Given the description of an element on the screen output the (x, y) to click on. 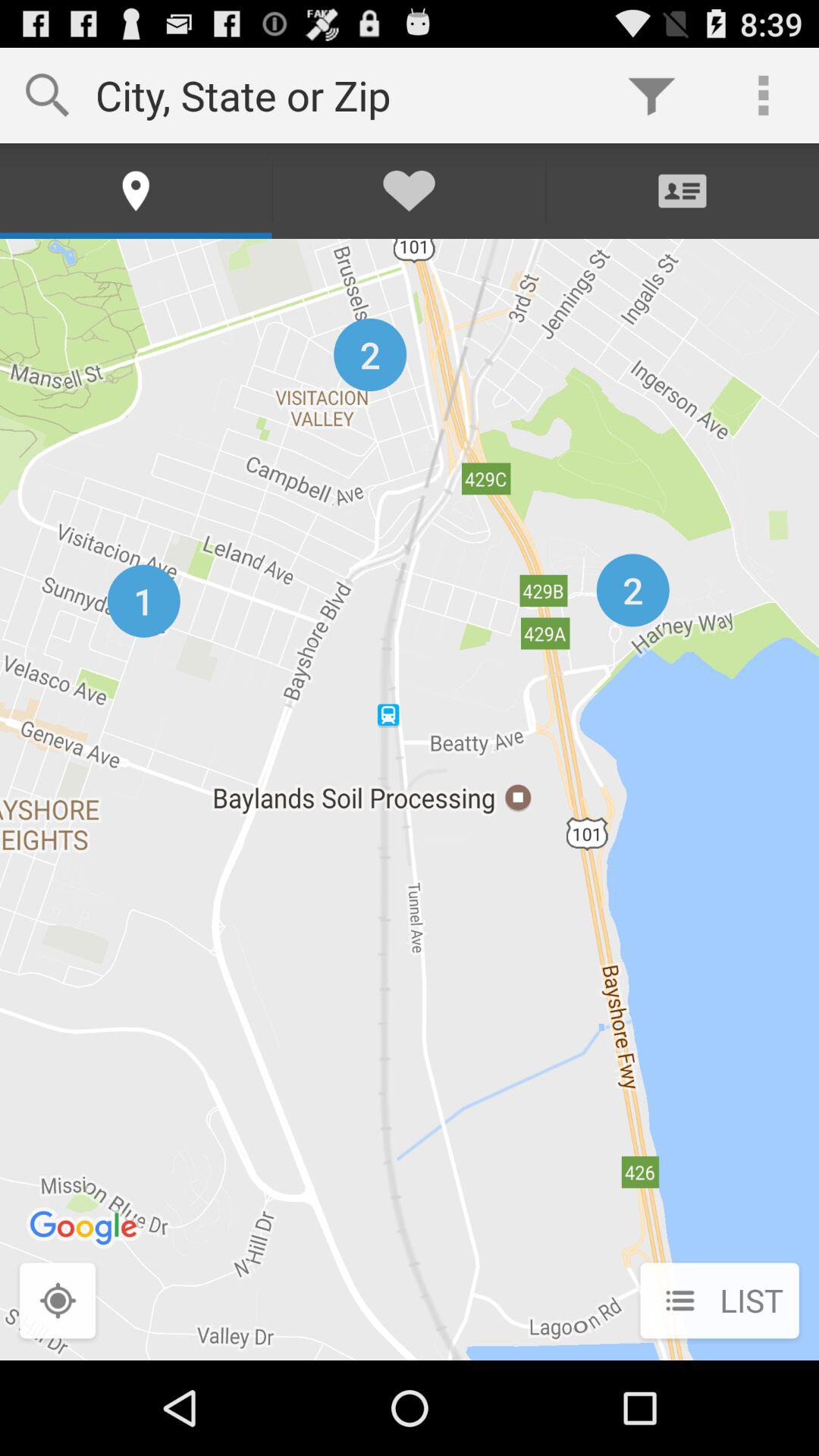
click the list button (719, 1302)
